Given the description of an element on the screen output the (x, y) to click on. 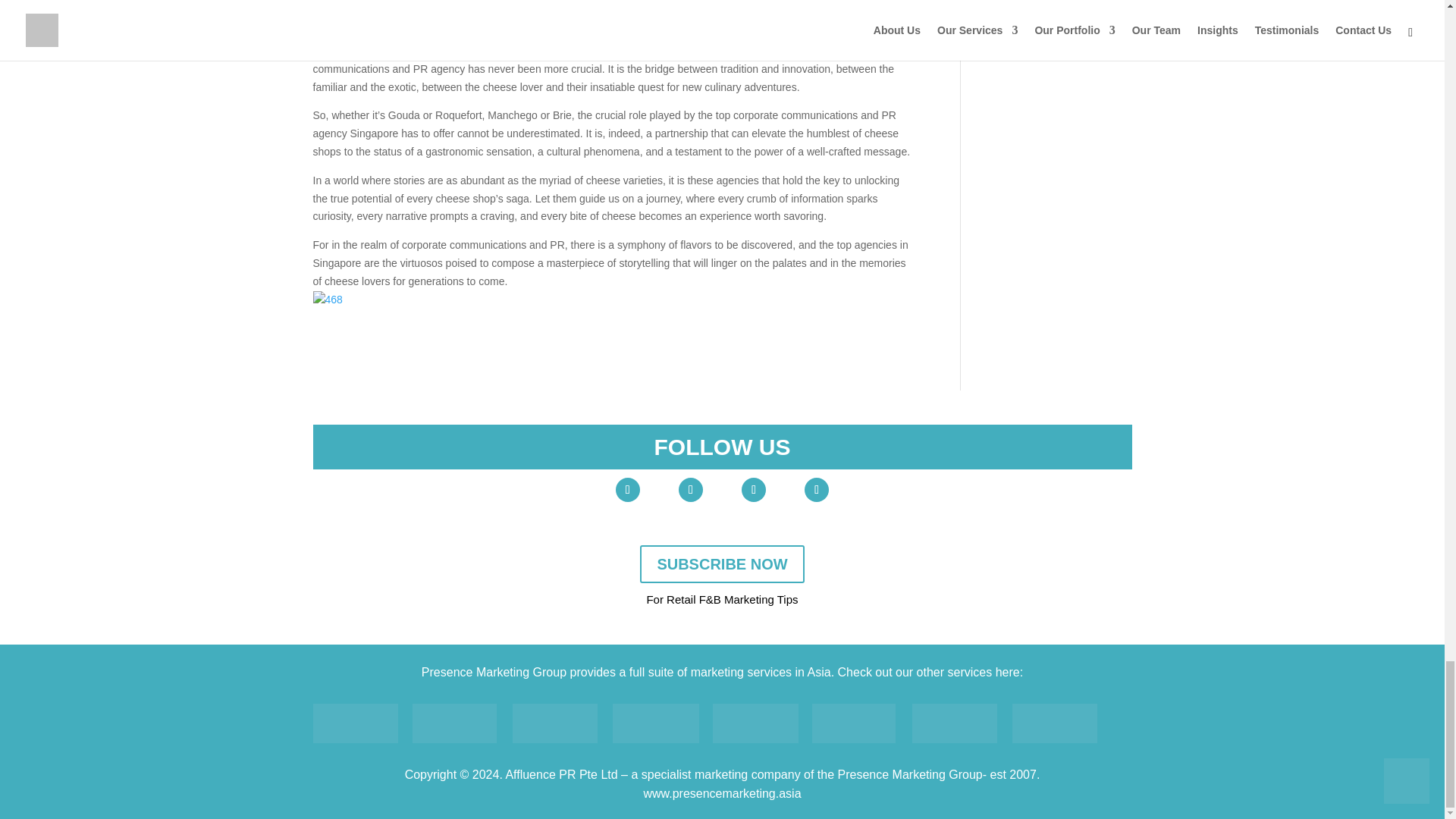
Decadence Design (655, 722)
Eminence Event (755, 722)
Confluence PR (554, 722)
Ambience PR (454, 722)
Follow on Facebook (690, 489)
Follow on LinkedIn (753, 489)
Follow on Instagram (816, 489)
Follow on Youtube (627, 489)
Affluence PR (355, 722)
Potence PR (853, 722)
